Given the description of an element on the screen output the (x, y) to click on. 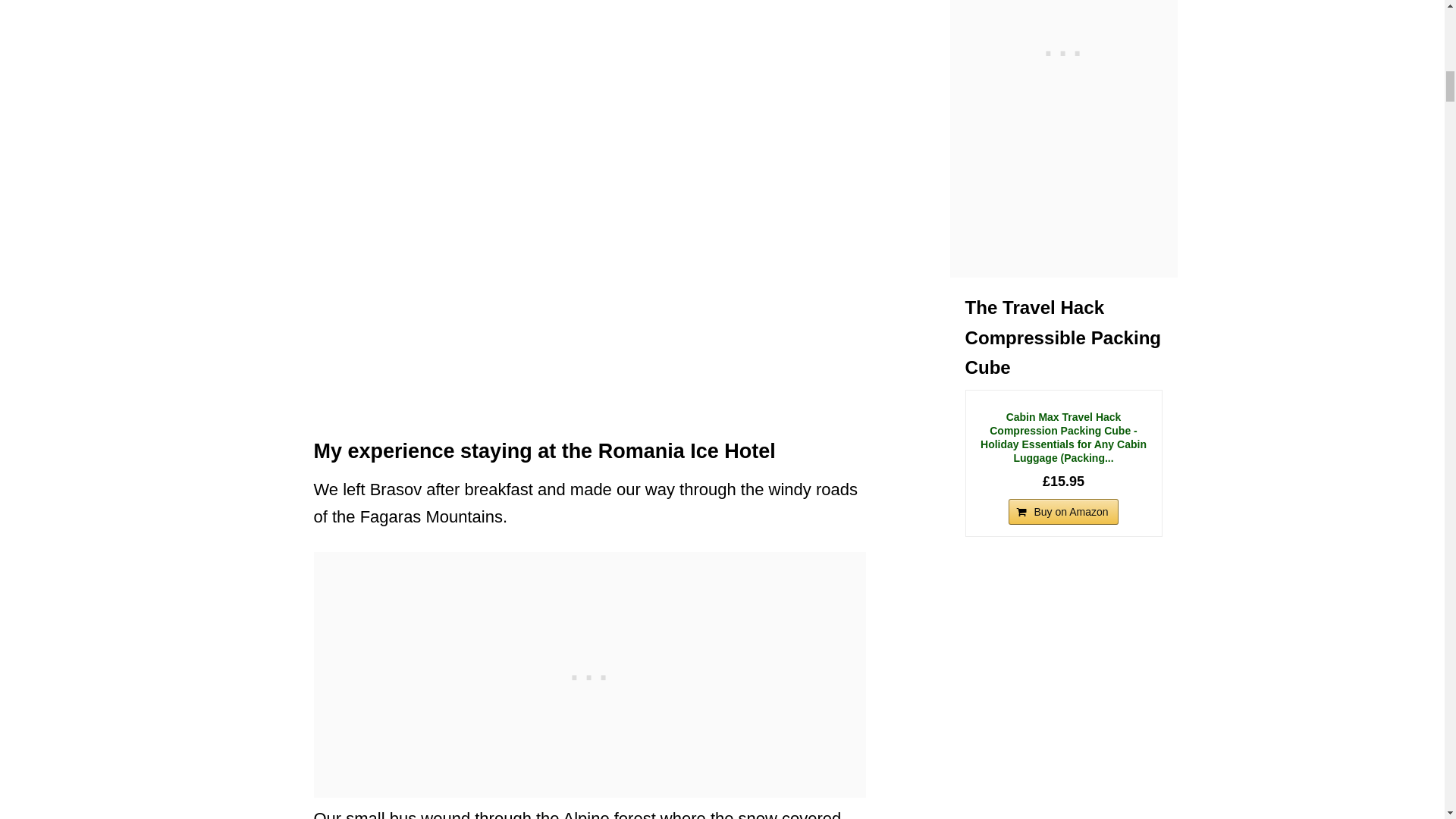
Buy on Amazon (1063, 511)
Buy on Amazon (1063, 511)
